Given the description of an element on the screen output the (x, y) to click on. 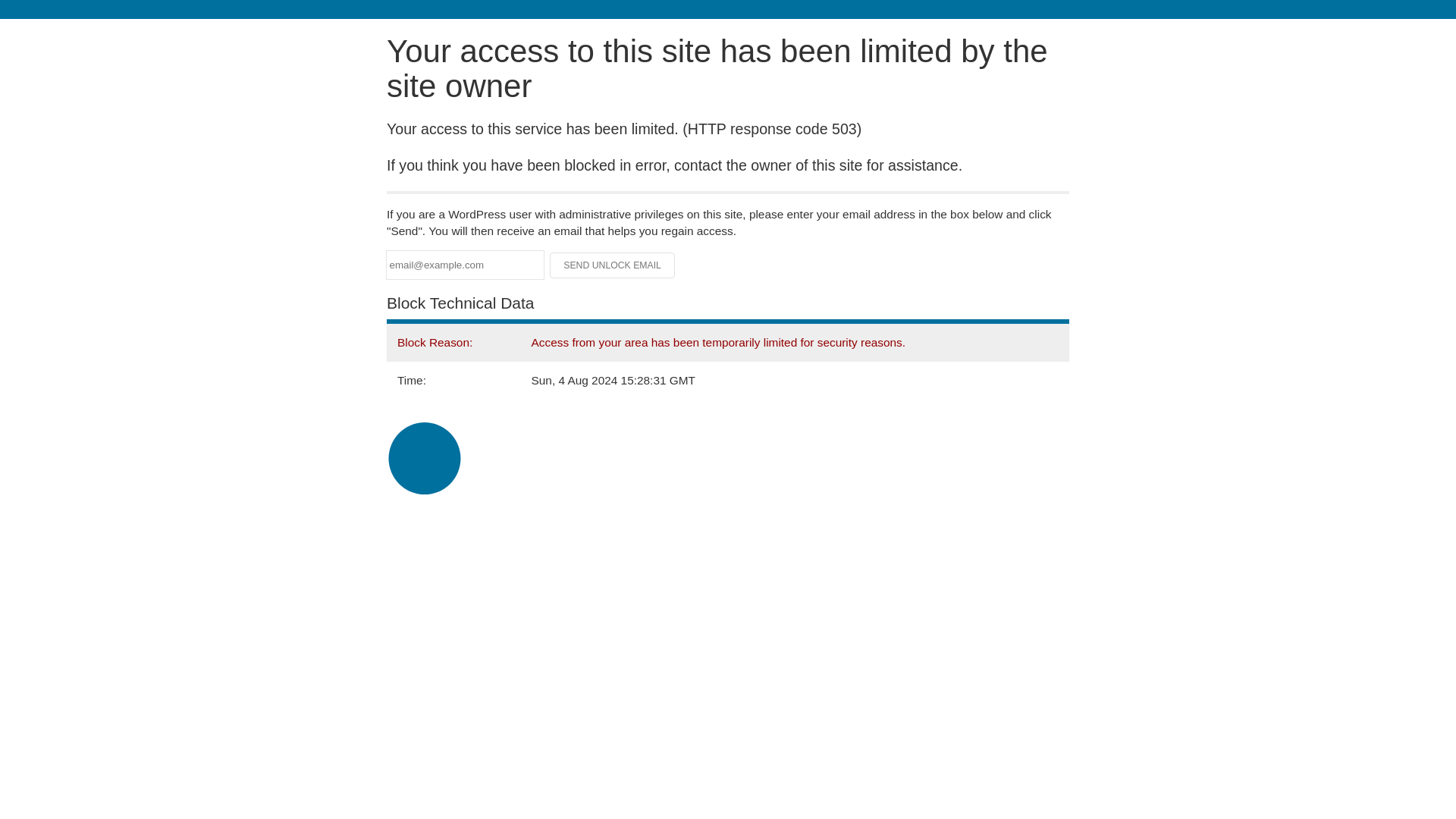
Send Unlock Email (612, 265)
Send Unlock Email (612, 265)
